Given the description of an element on the screen output the (x, y) to click on. 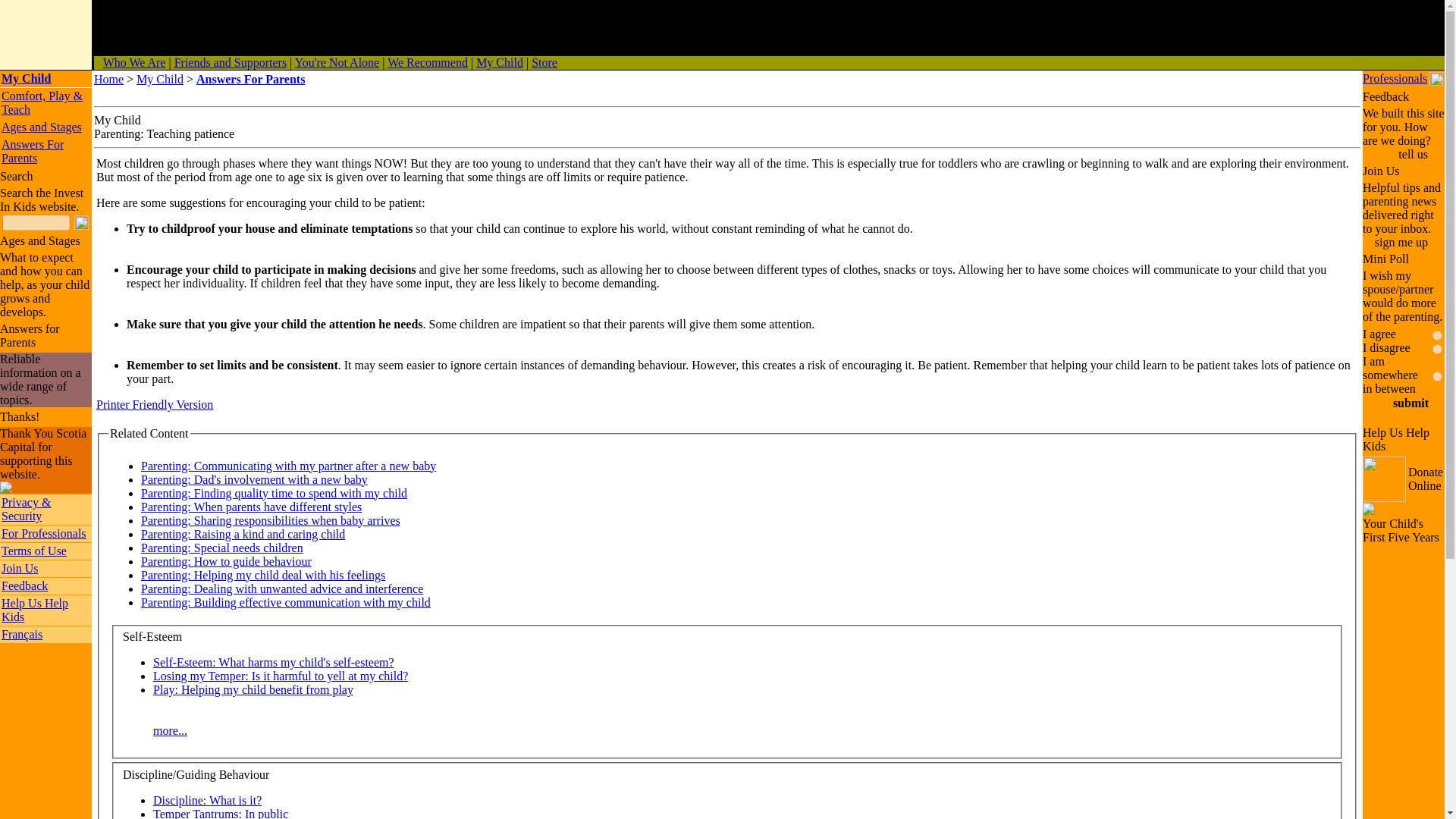
Parenting: Finding quality time to spend with my child (274, 492)
Answers For Parents (32, 151)
My Child (499, 62)
Self-Esteem: What harms my child's self-esteem? (273, 662)
Parenting: Raising a kind and caring child (243, 533)
Ages and Stages (41, 126)
My Child (159, 78)
Parenting: Dad's involvement with a new baby (254, 479)
Friends and Supporters (230, 62)
Parenting: Helping my child deal with his feelings (263, 574)
Parenting: Special needs children (221, 547)
Printer Friendly Version (154, 404)
Parenting: Sharing responsibilities when baby arrives (270, 520)
2 (1437, 348)
Feedback (24, 585)
